Given the description of an element on the screen output the (x, y) to click on. 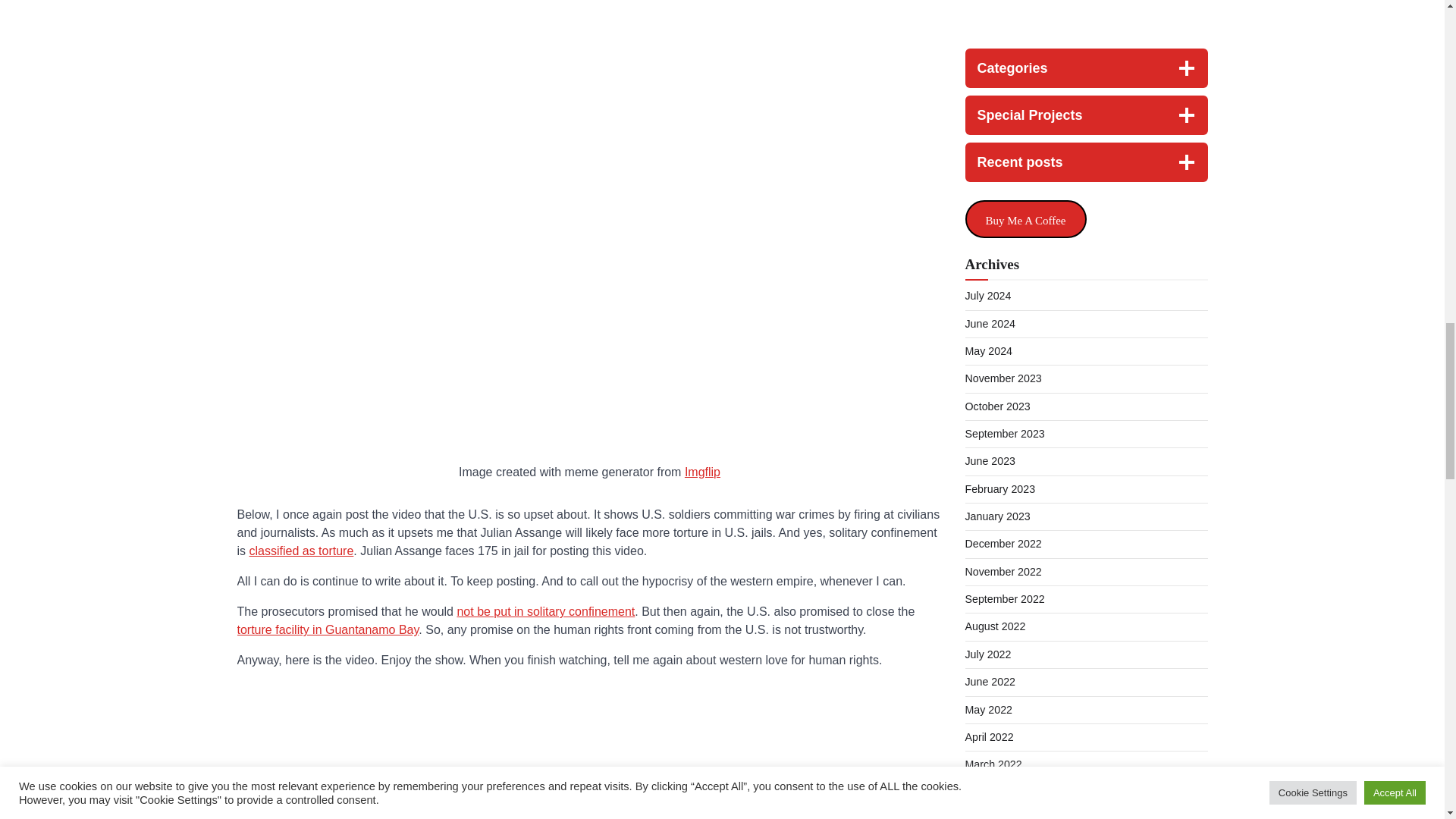
not be put in solitary confinement (545, 611)
classified as torture (300, 550)
torture facility in Guantanamo Bay (327, 629)
Imgflip (702, 472)
